Given the description of an element on the screen output the (x, y) to click on. 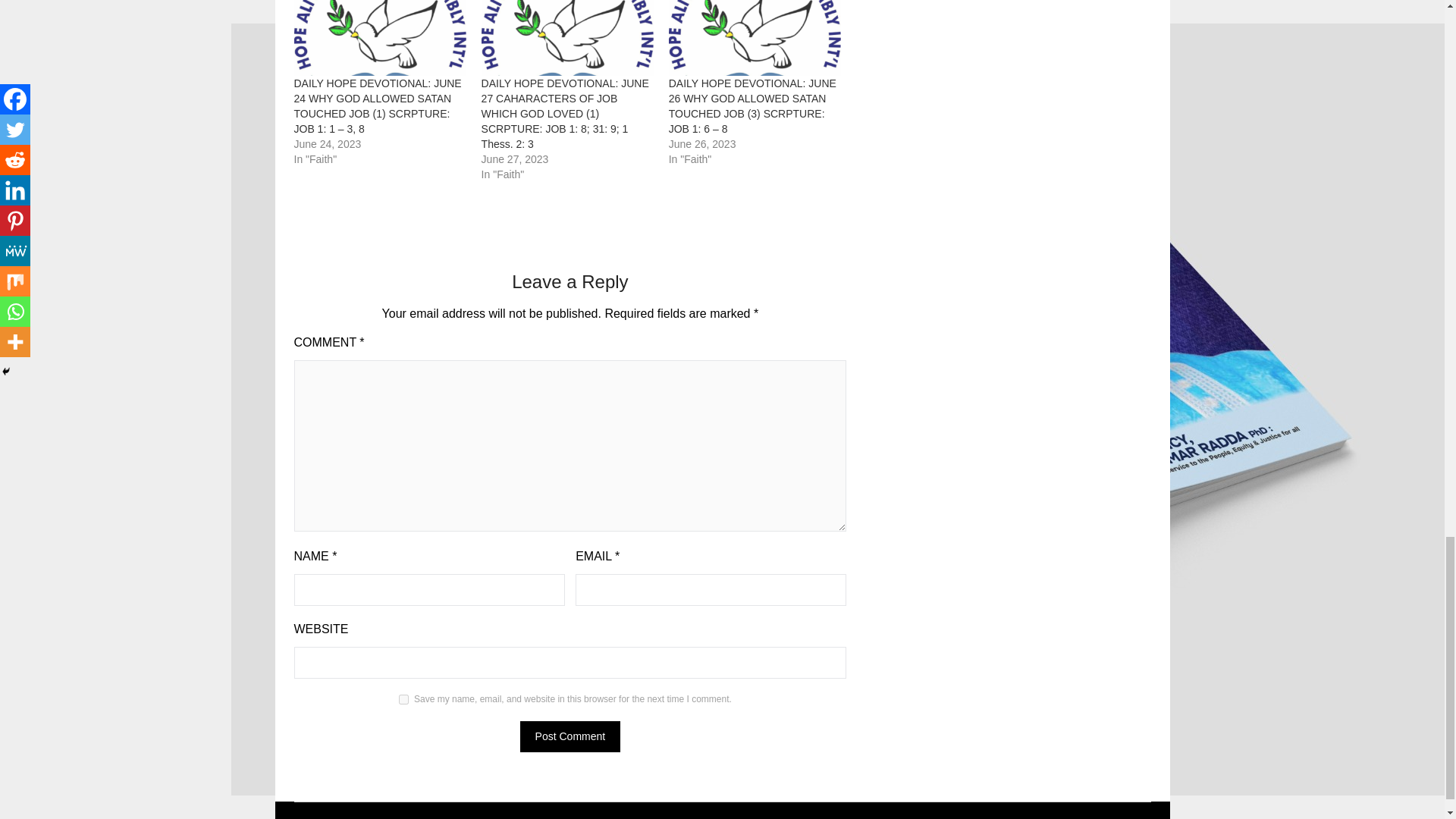
yes (403, 699)
Post Comment (570, 736)
Post Comment (570, 736)
